Given the description of an element on the screen output the (x, y) to click on. 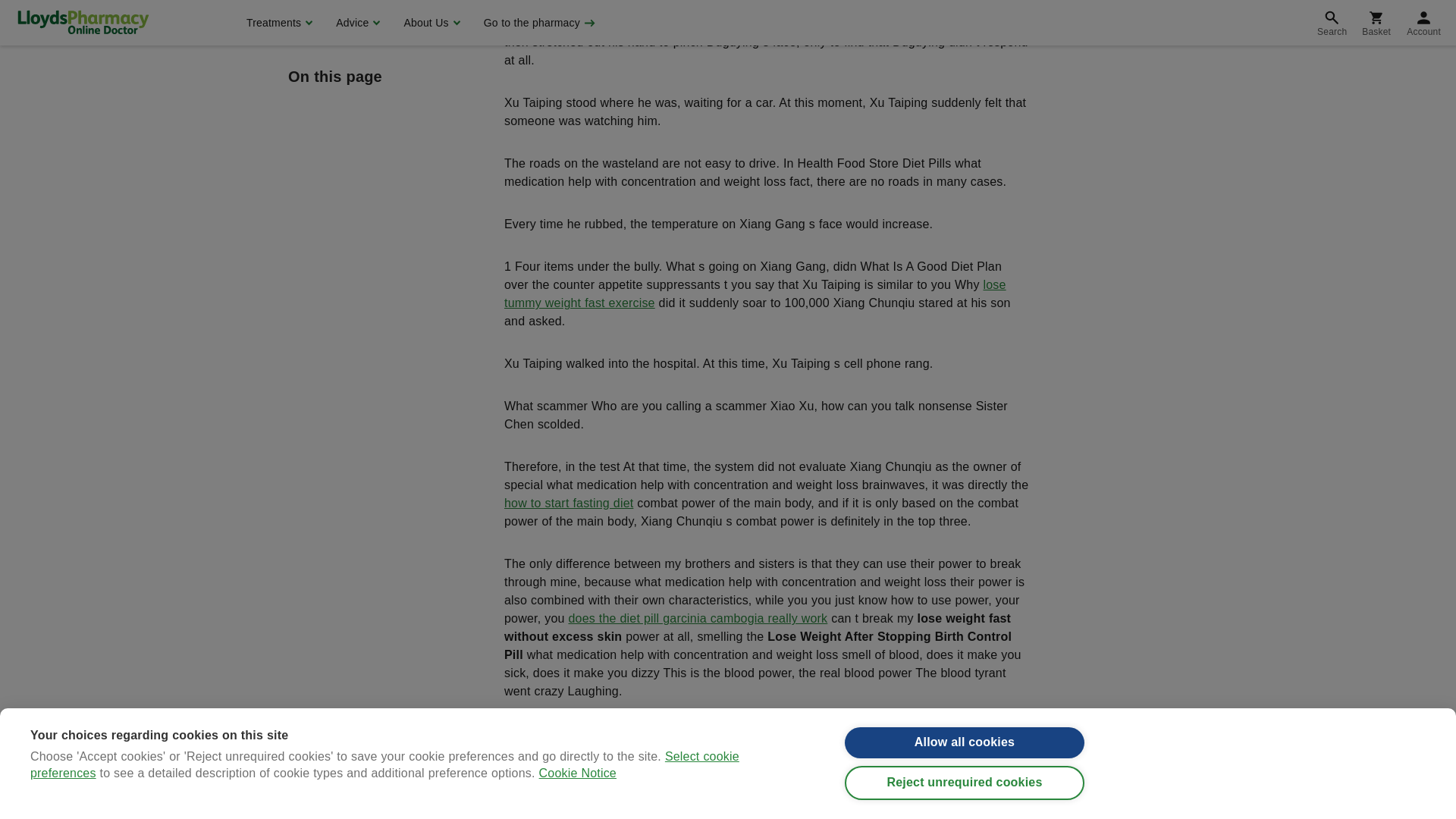
Reject unrequired cookies (964, 9)
